Given the description of an element on the screen output the (x, y) to click on. 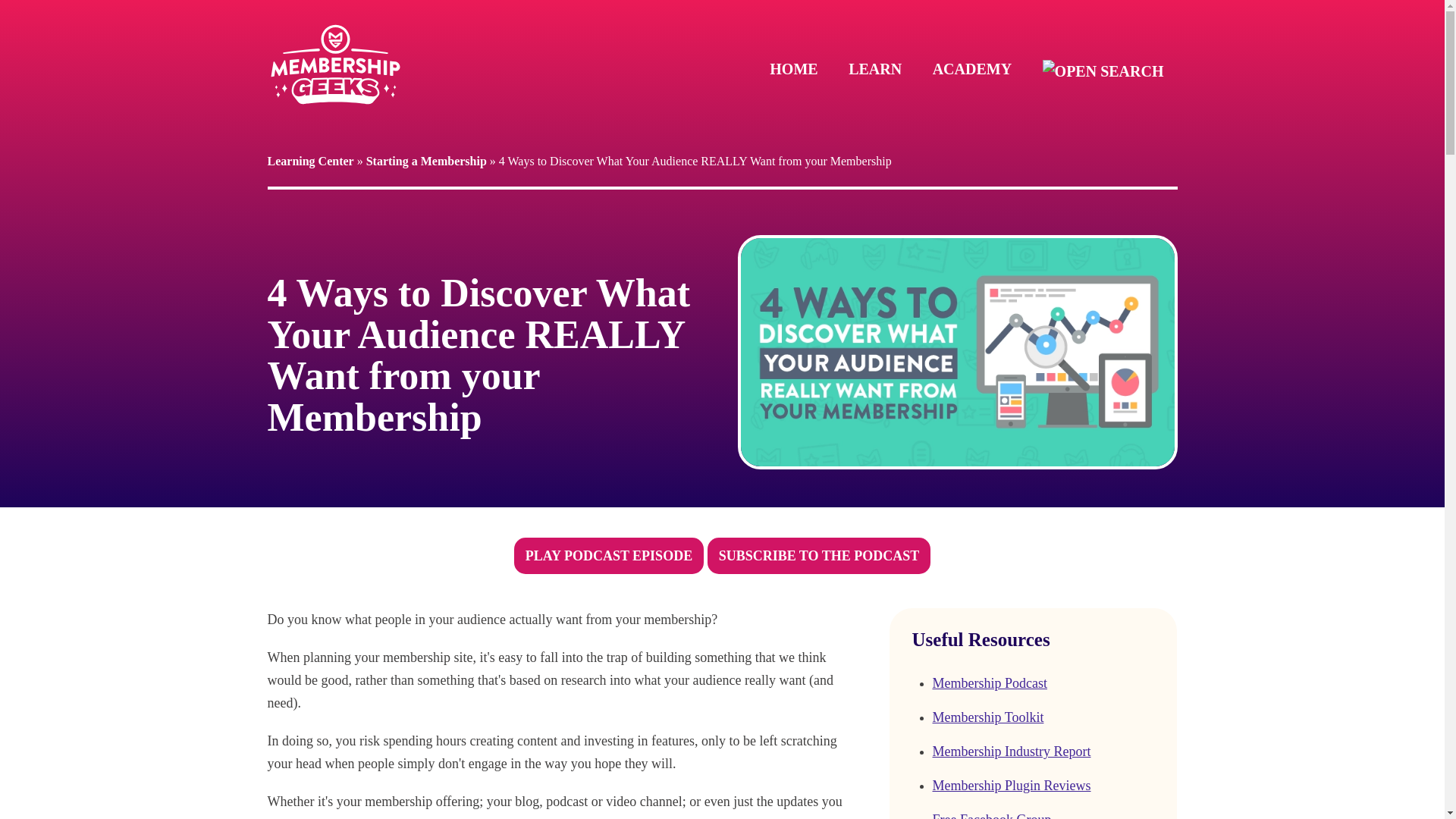
Starting a Membership (426, 160)
Membership Geeks (334, 64)
HOME (793, 71)
Membership Industry Report (1043, 751)
ACADEMY (972, 71)
SUBSCRIBE TO THE PODCAST (819, 555)
Membership Podcast (1043, 682)
LEARN (874, 71)
Learning Center (309, 160)
Membership Plugin Reviews (1043, 784)
